Given the description of an element on the screen output the (x, y) to click on. 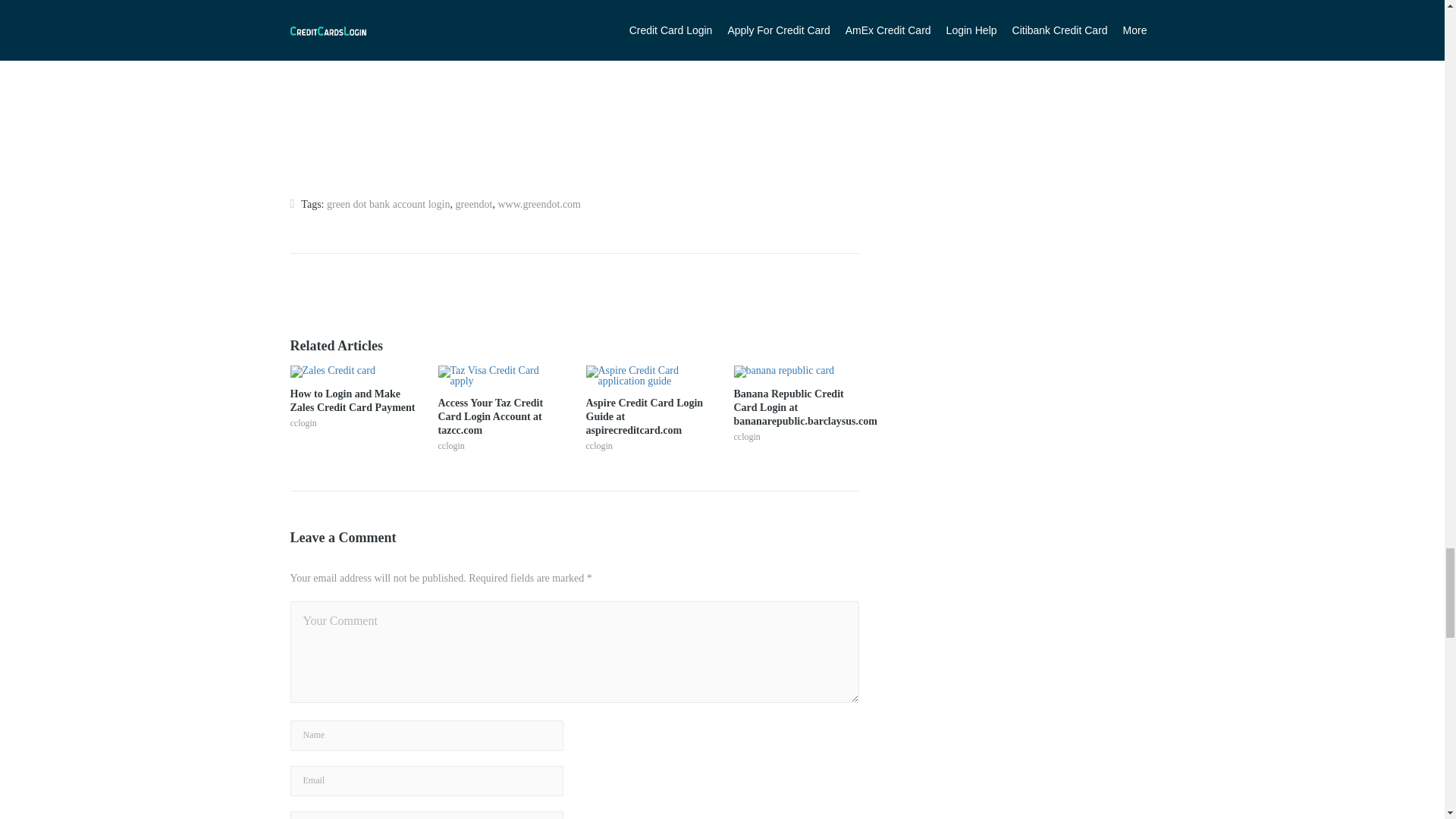
How to Login and Make Zales Credit Card Payment (351, 400)
Aspire Credit Card Login Guide at aspirecreditcard.com (647, 416)
www.greendot.com (538, 204)
greendot (473, 204)
Access Your Taz Credit Card Login Account at tazcc.com (500, 416)
green dot bank account login (387, 204)
